Given the description of an element on the screen output the (x, y) to click on. 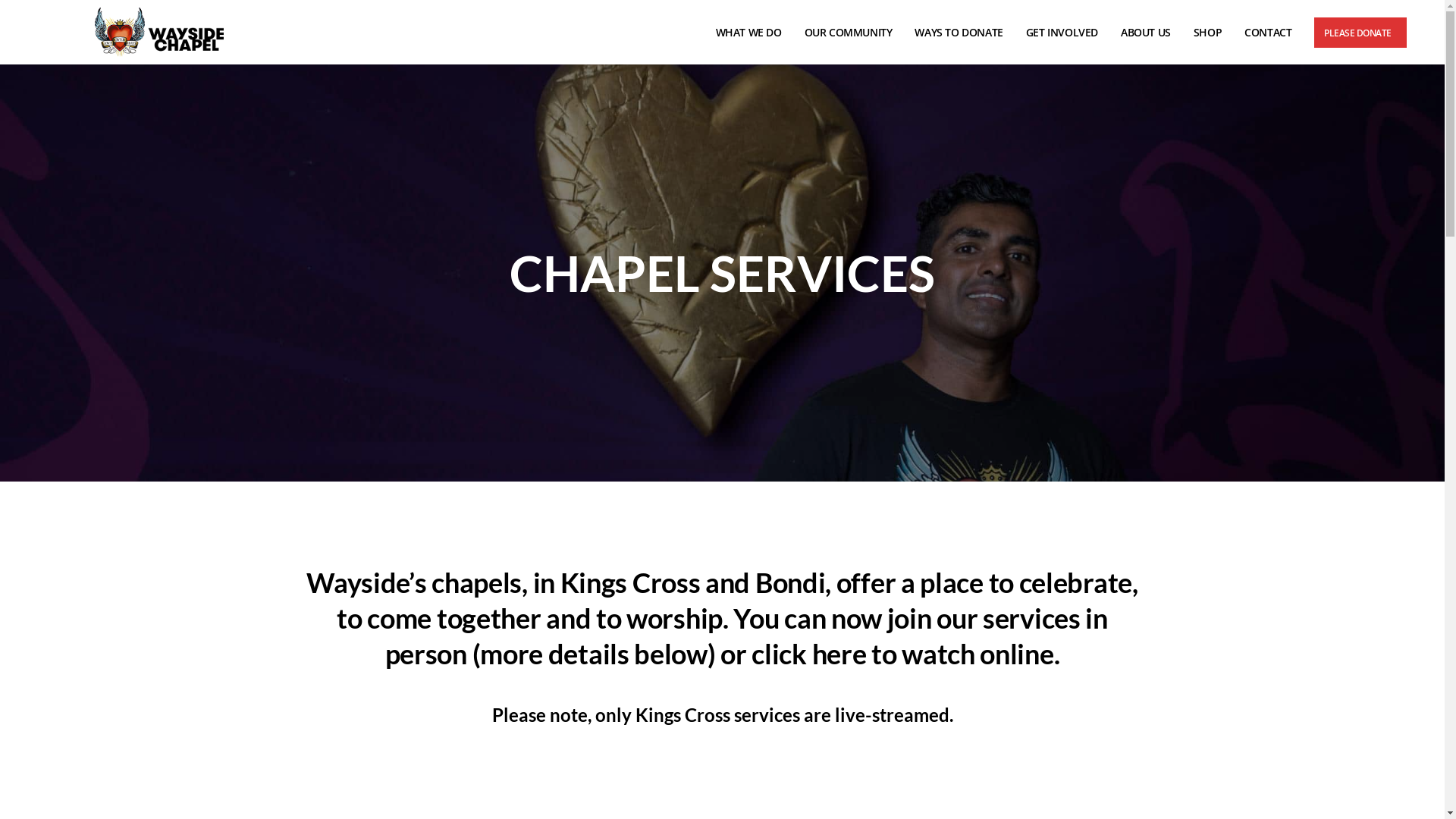
GET INVOLVED Element type: text (1065, 32)
CONTACT Element type: text (1271, 32)
PLEASE DONATE Element type: text (1360, 32)
OUR COMMUNITY Element type: text (852, 32)
ABOUT US Element type: text (1149, 32)
SHOP Element type: text (1211, 32)
WHAT WE DO Element type: text (752, 32)
WAYS TO DONATE Element type: text (961, 32)
